Given the description of an element on the screen output the (x, y) to click on. 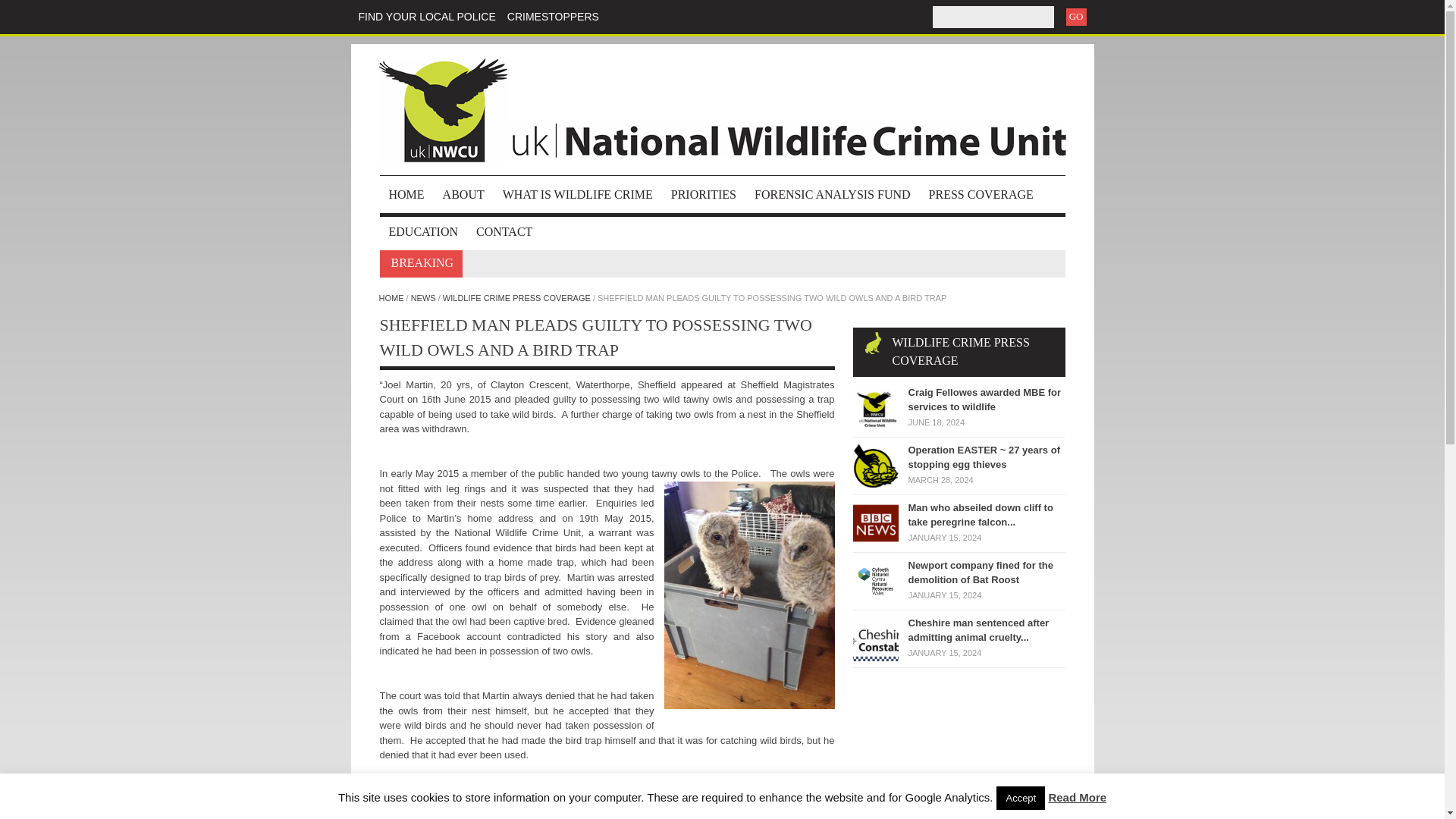
FORENSIC ANALYSIS FUND (832, 194)
GO (1075, 16)
PRIORITIES (703, 194)
FIND YOUR LOCAL POLICE (426, 16)
CRIMESTOPPERS (552, 16)
GO (1075, 16)
GO (1075, 16)
WHAT IS WILDLIFE CRIME (577, 194)
EDUCATION (422, 230)
HOME (405, 194)
CONTACT (504, 230)
to search type and hit enter (993, 16)
ABOUT (463, 194)
PRESS COVERAGE (981, 194)
